Given the description of an element on the screen output the (x, y) to click on. 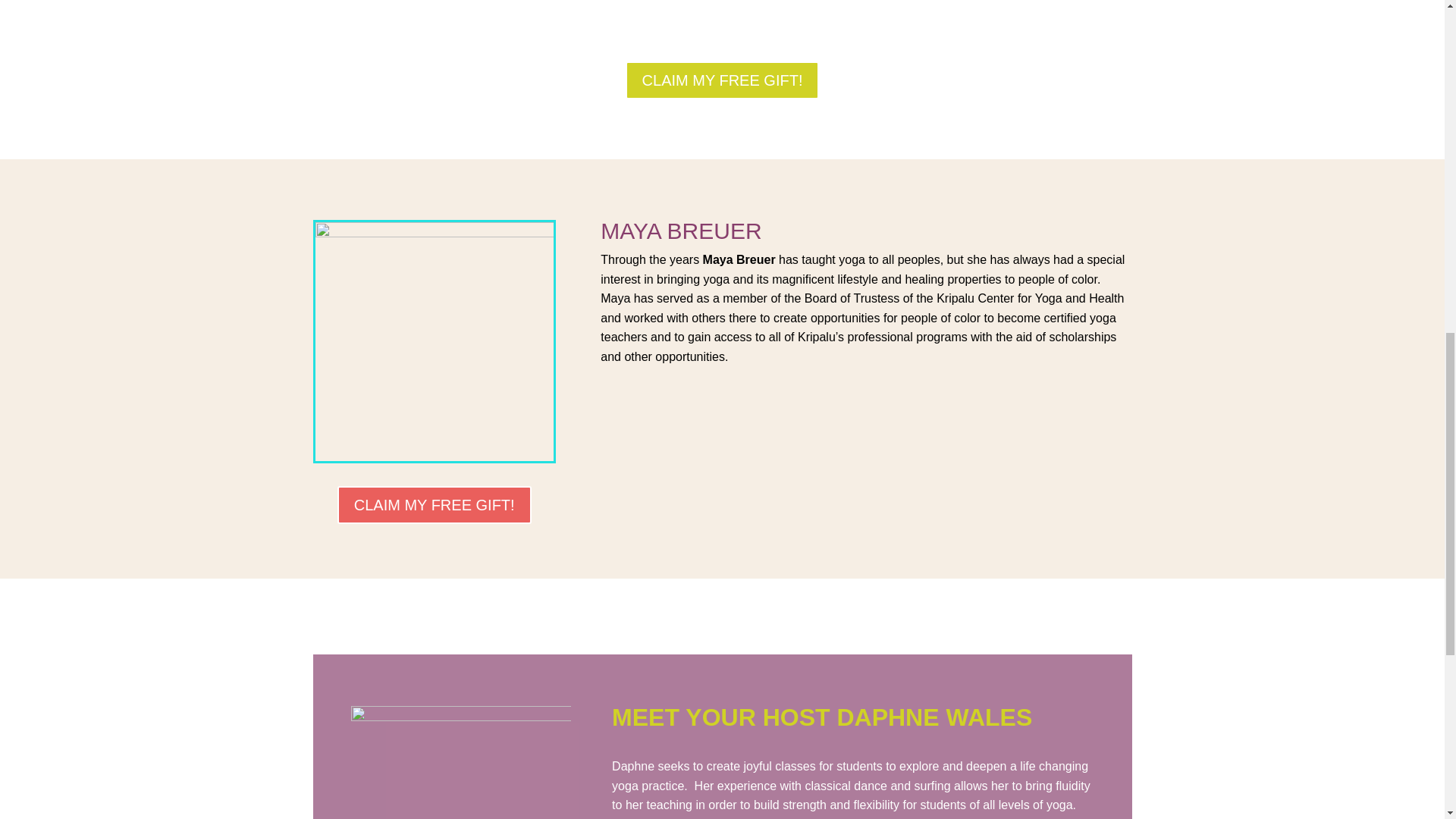
CLAIM MY FREE GIFT! (434, 504)
PinkShirt-cropped (460, 762)
Maya-Breuer (434, 340)
CLAIM MY FREE GIFT! (722, 80)
